Given the description of an element on the screen output the (x, y) to click on. 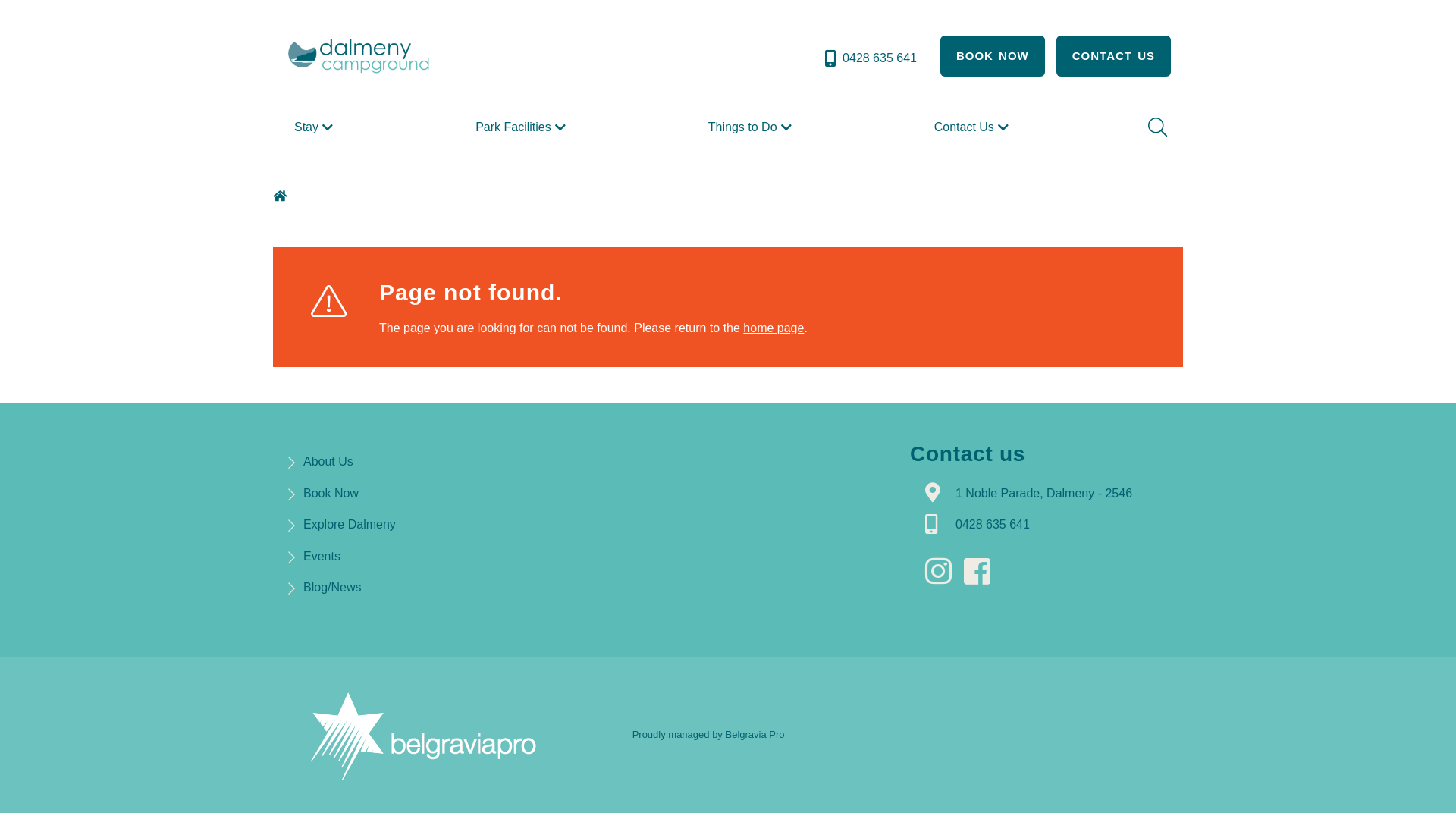
Park Facilities Element type: text (522, 127)
Search Element type: text (1156, 127)
About Us Element type: text (328, 461)
Contact Us Element type: text (973, 127)
home page Element type: text (773, 327)
Events Element type: text (321, 555)
CONTACT US Element type: text (1113, 55)
Things to Do Element type: text (751, 127)
0428 635 641 Element type: text (992, 523)
  Element type: text (282, 195)
Proudly managed by Belgravia Pro Element type: text (708, 734)
0428 635 641 Element type: text (869, 58)
BOOK NOW Element type: text (992, 55)
Book Now Element type: text (330, 492)
  Element type: text (942, 571)
Stay Element type: text (315, 127)
  Element type: text (980, 571)
Blog/News Element type: text (331, 586)
Explore Dalmeny Element type: text (349, 523)
